Given the description of an element on the screen output the (x, y) to click on. 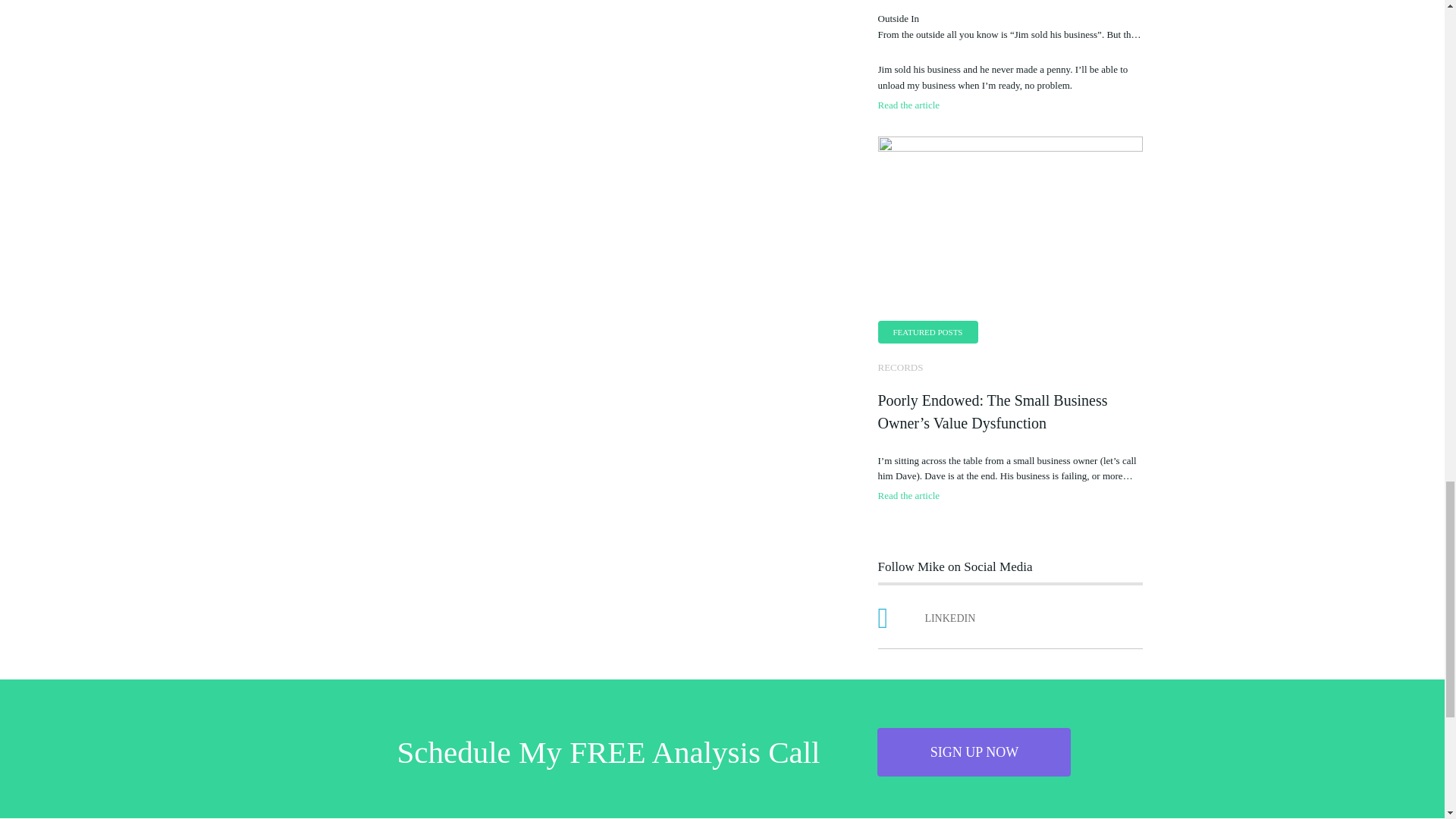
RECORDS (900, 367)
Read the article (908, 104)
Read the article (908, 495)
